Given the description of an element on the screen output the (x, y) to click on. 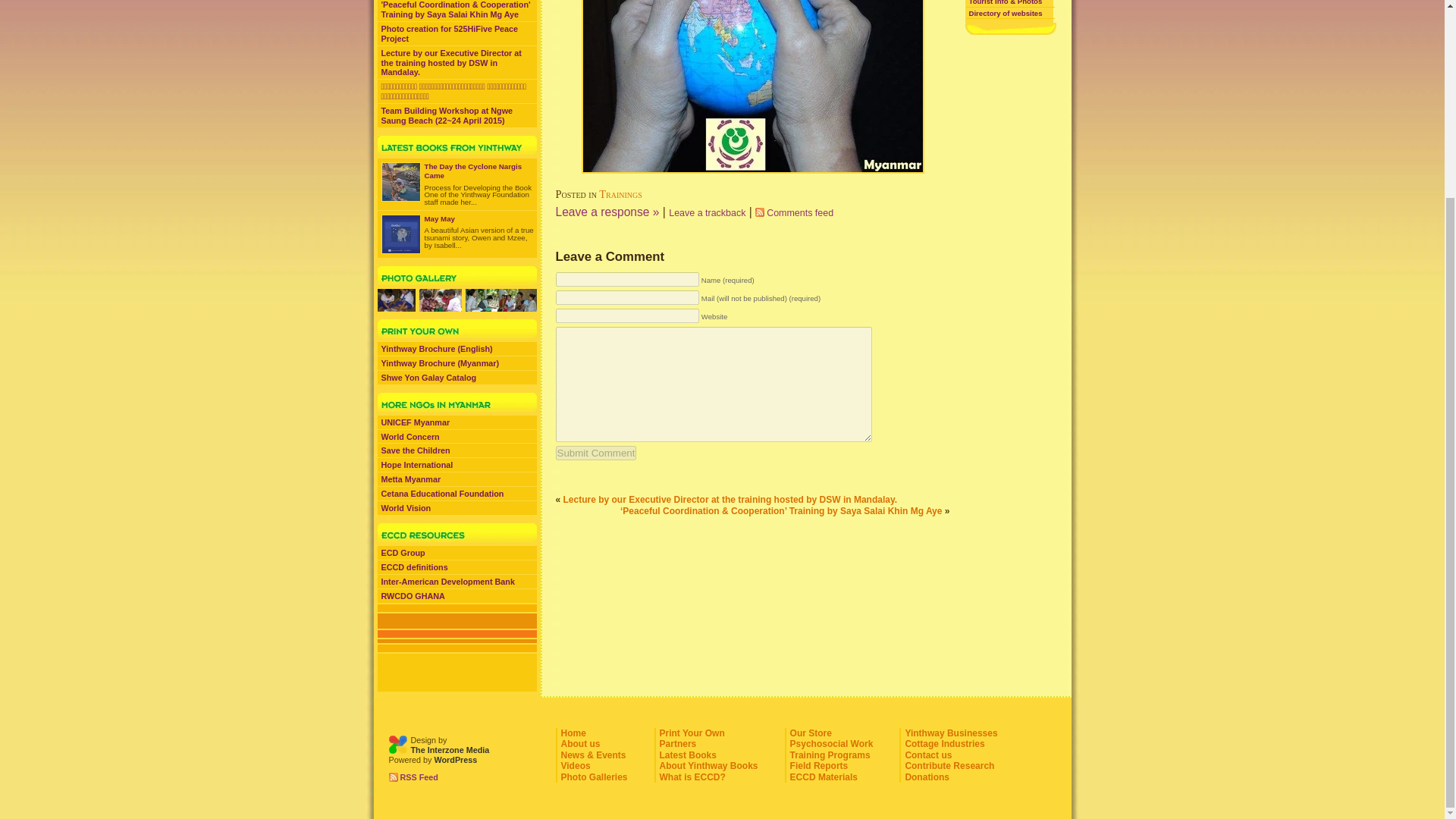
Catalog of products sold at the Shwe Yon Galay store (457, 377)
Photo creation for 525HiFive Peace Project (400, 181)
May May (440, 218)
Rural Women and Children Development Organization (457, 595)
Cetana Educational Foundation (457, 493)
Shwe Yon Galay Catalog (457, 377)
Metta Myanmar (457, 479)
Photo creation for 525HiFive Peace Project (457, 33)
Most diverse listing of Myanmar websites around (1010, 13)
